Given the description of an element on the screen output the (x, y) to click on. 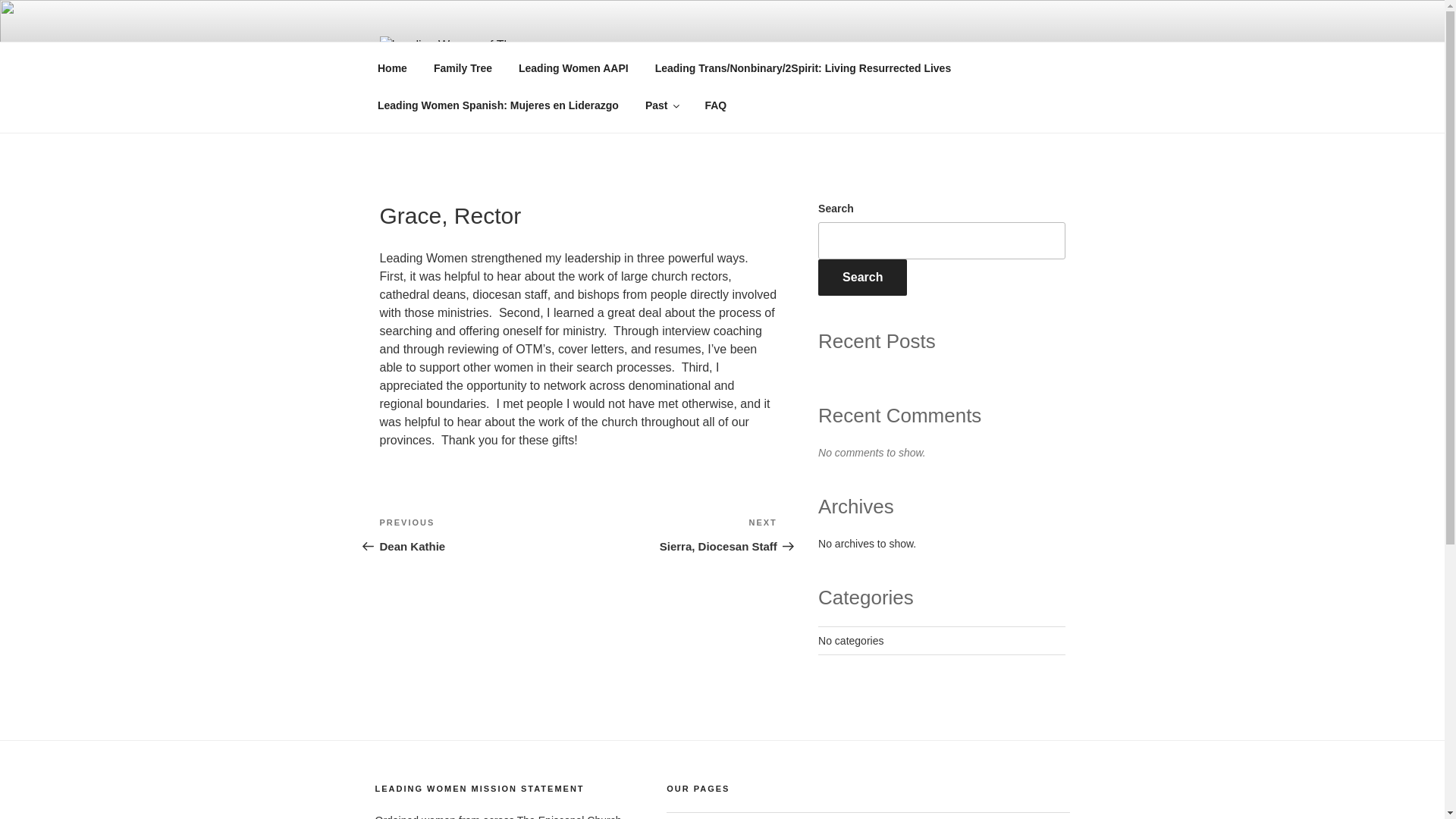
Leading Women Spanish: Mujeres en Liderazgo (497, 105)
Search (862, 277)
Leading Women AAPI (573, 67)
Home (392, 67)
FAQ (715, 105)
Past (661, 105)
Family Tree (478, 534)
LEADINGWOMEN (677, 534)
